Given the description of an element on the screen output the (x, y) to click on. 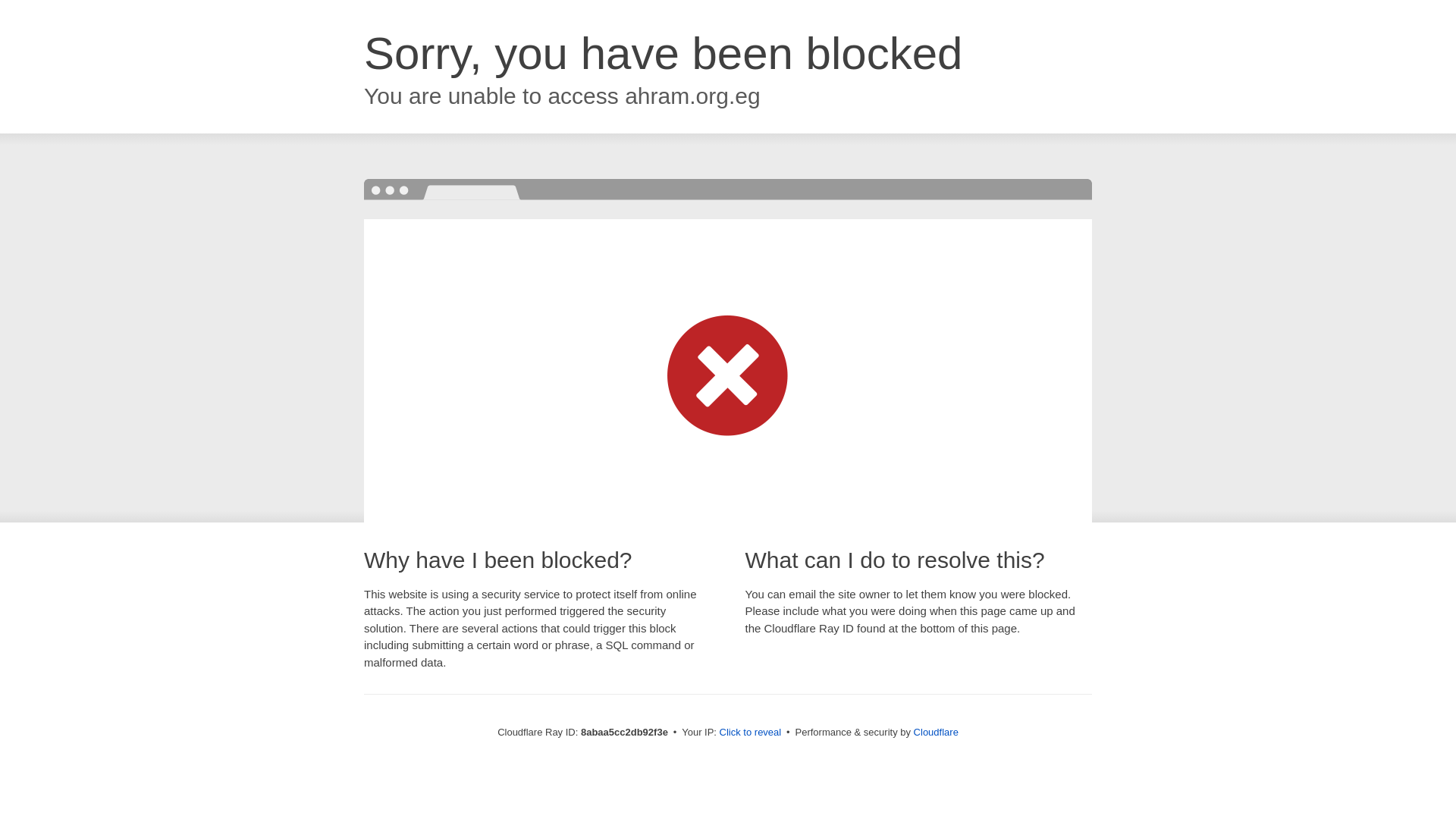
Click to reveal (750, 732)
Cloudflare (936, 731)
